Given the description of an element on the screen output the (x, y) to click on. 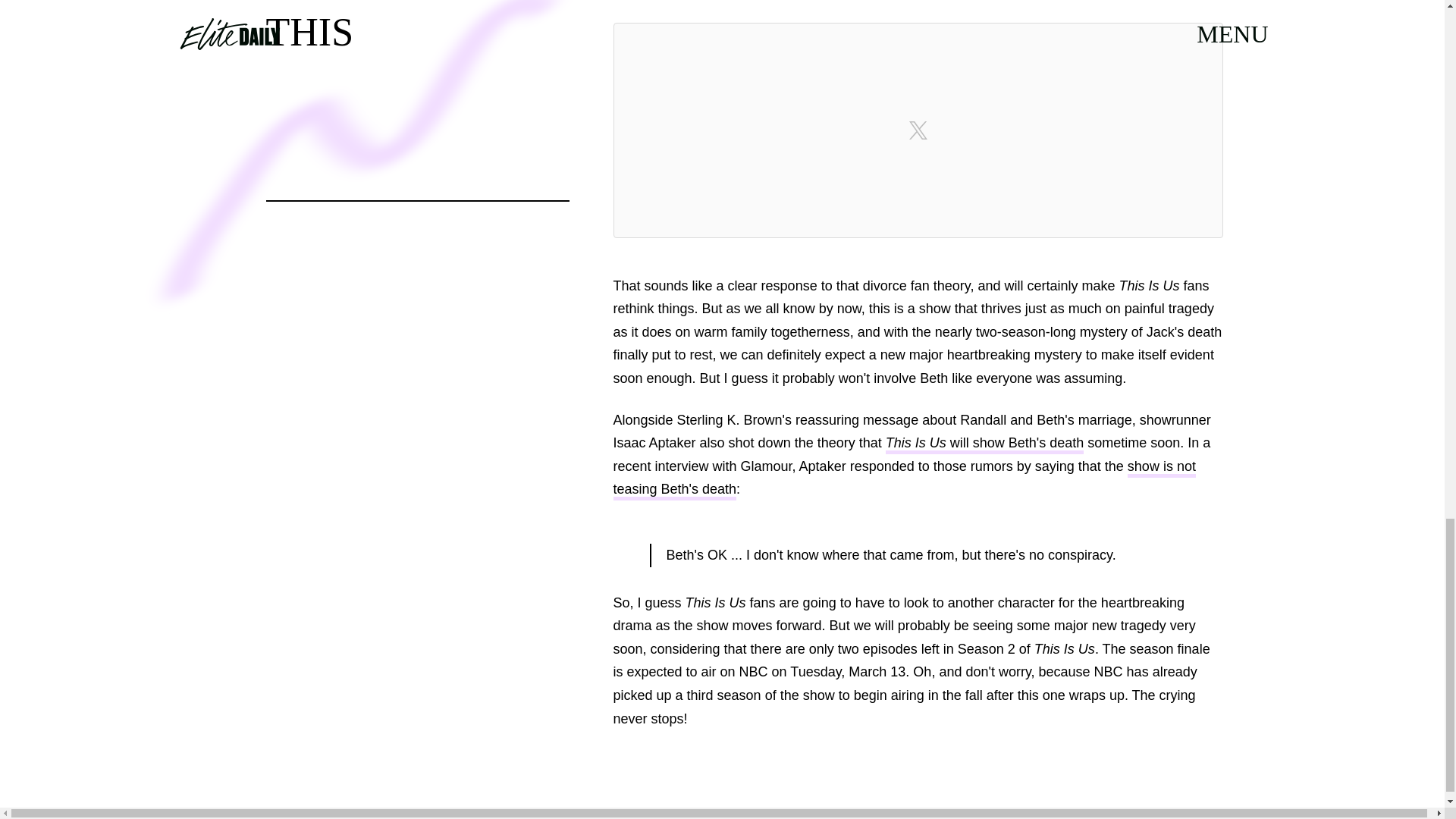
show is not teasing Beth's death (903, 479)
This Is Us will show Beth's death (984, 444)
